Given the description of an element on the screen output the (x, y) to click on. 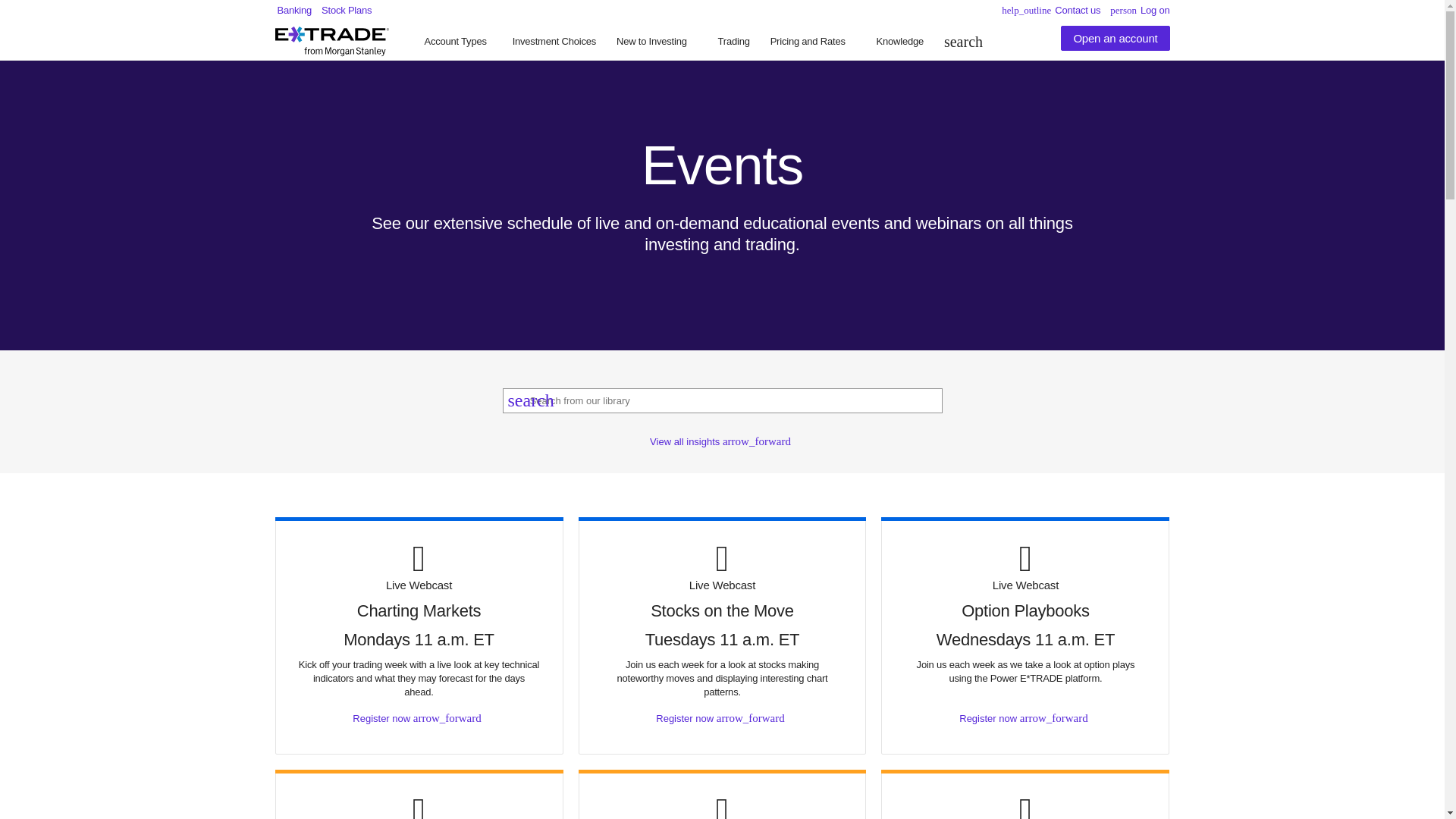
Stock Plans (899, 41)
Banking (346, 9)
Pricing and Rates (733, 41)
New to Investing (454, 41)
Contact us (295, 9)
Log on (553, 41)
